Given the description of an element on the screen output the (x, y) to click on. 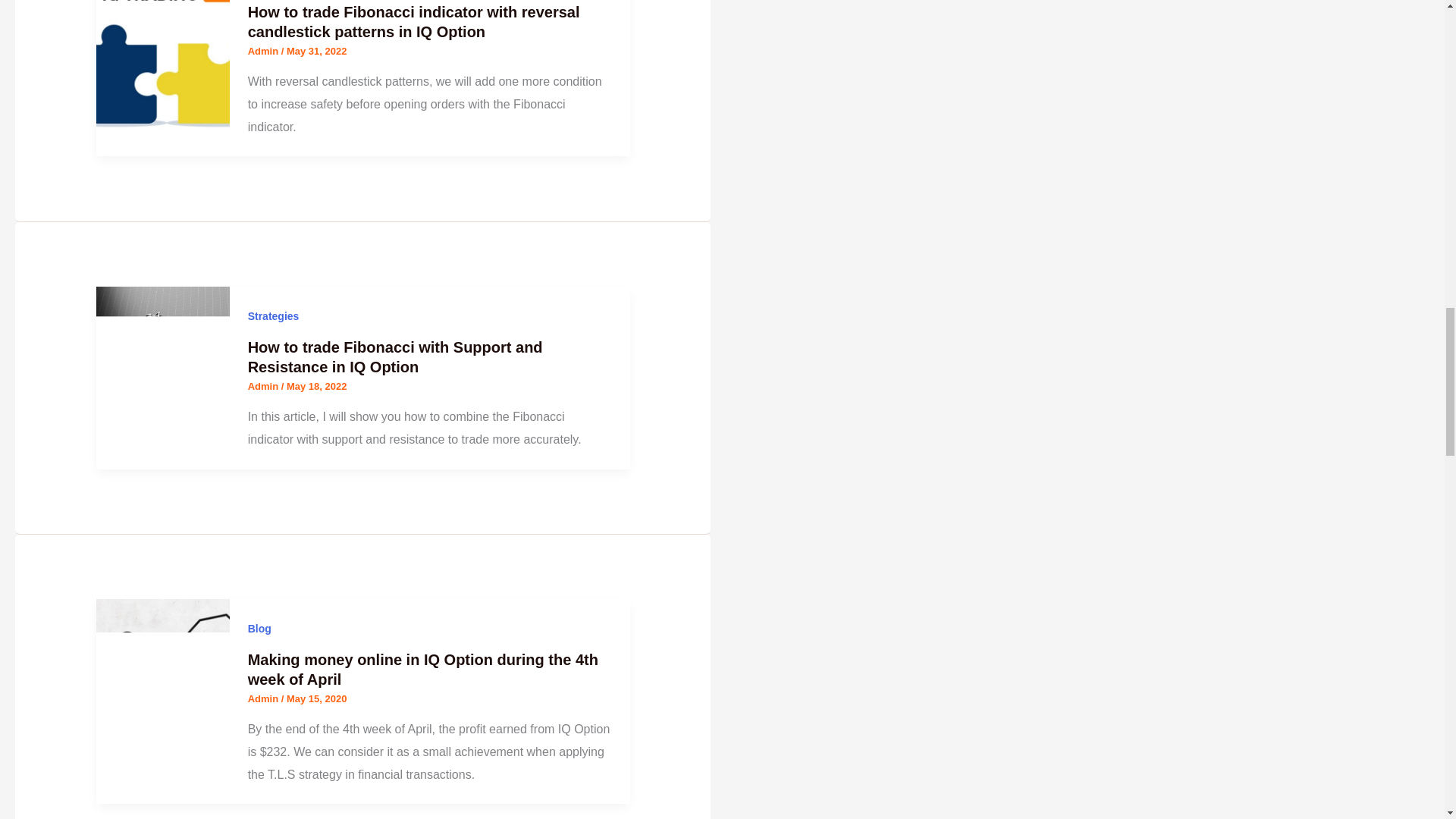
View all posts by Admin (264, 386)
View all posts by Admin (264, 50)
View all posts by Admin (264, 698)
